Given the description of an element on the screen output the (x, y) to click on. 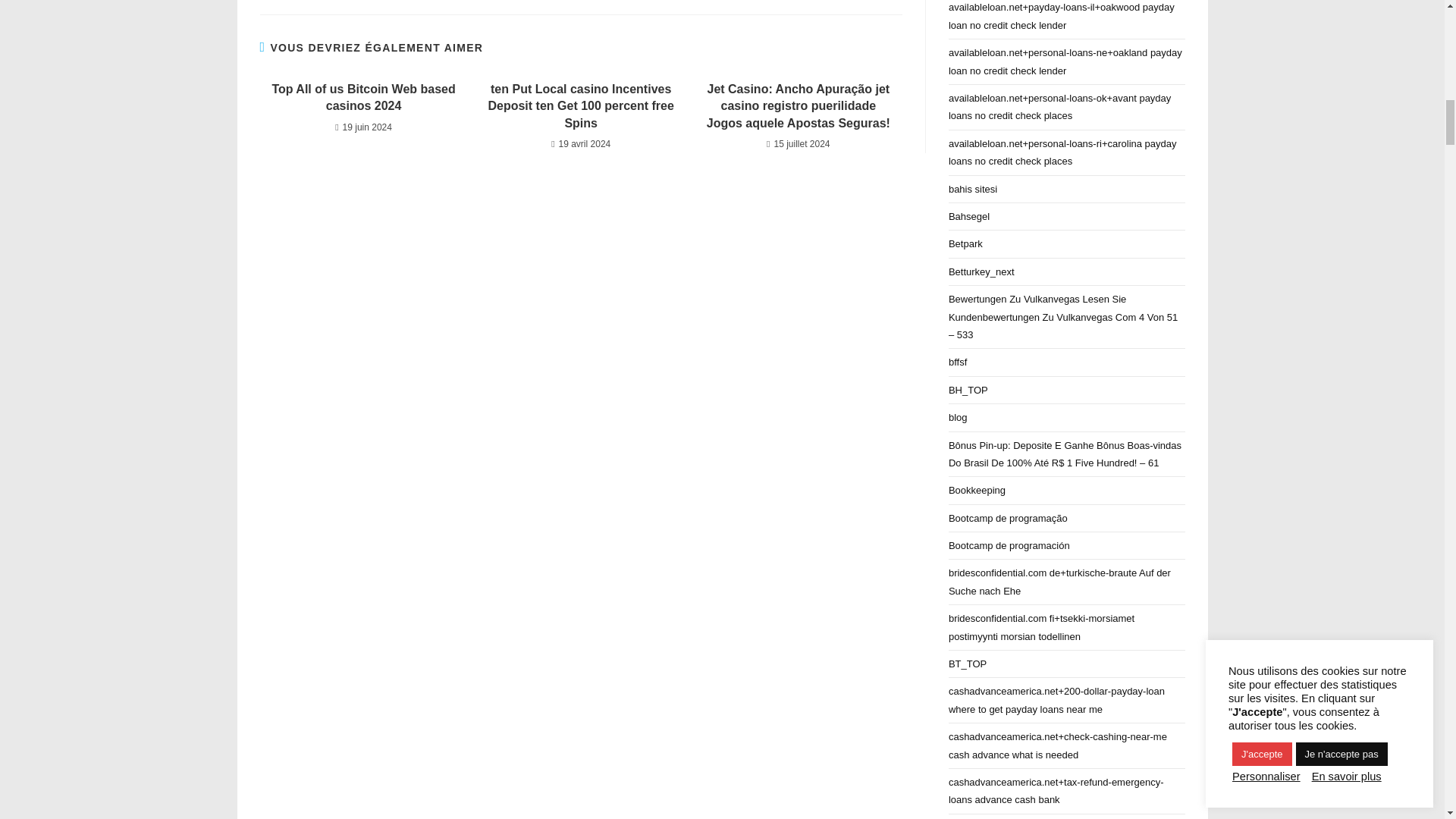
Top All of us Bitcoin Web based casinos 2024 (362, 98)
